Given the description of an element on the screen output the (x, y) to click on. 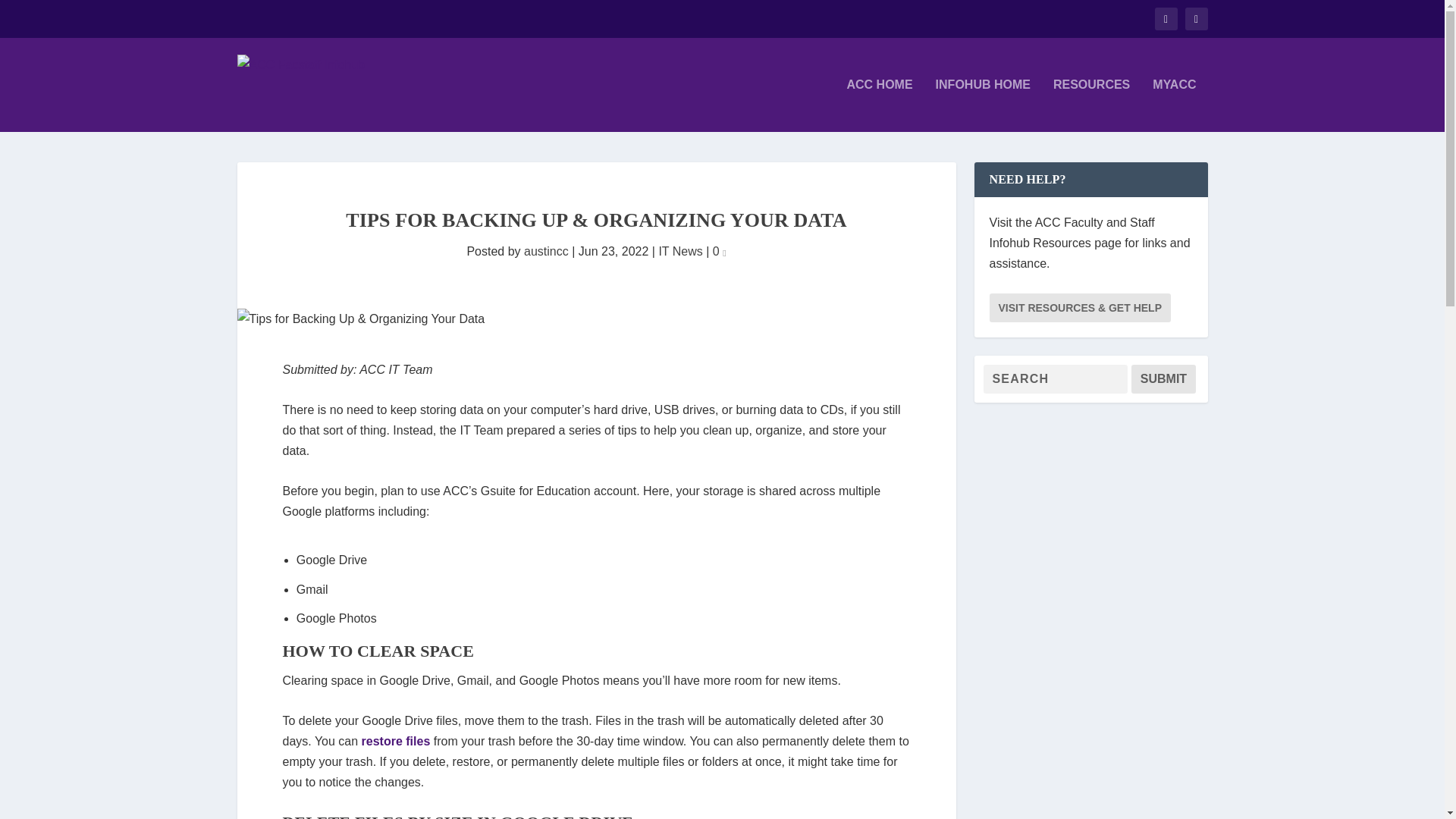
INFOHUB HOME (983, 104)
Submit (1163, 378)
restore files (395, 740)
ACC HOME (878, 104)
RESOURCES (1090, 104)
Submit (1163, 378)
austincc (546, 250)
Submit (1163, 378)
IT News (679, 250)
0 (719, 250)
Posts by austincc (546, 250)
